Given the description of an element on the screen output the (x, y) to click on. 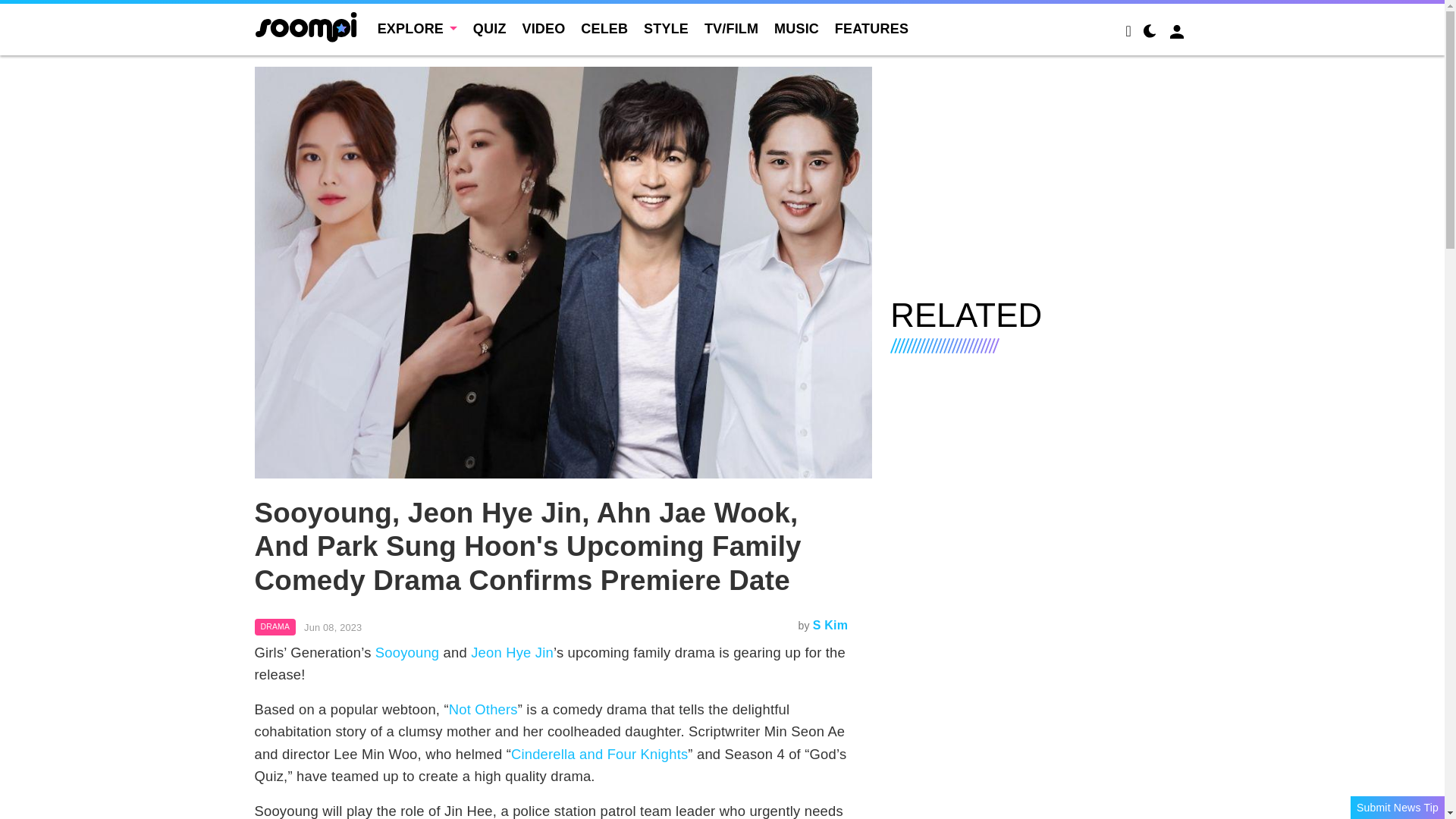
3rd party ad content (1040, 173)
Night Mode Toggle (1149, 33)
Drama (275, 627)
QUIZ (489, 28)
Articles by S Kim (829, 625)
Jeon Hye Jin (511, 652)
Cinderella and Four Knights (599, 754)
STYLE (665, 28)
Sooyoung (407, 652)
DRAMA (275, 627)
